Given the description of an element on the screen output the (x, y) to click on. 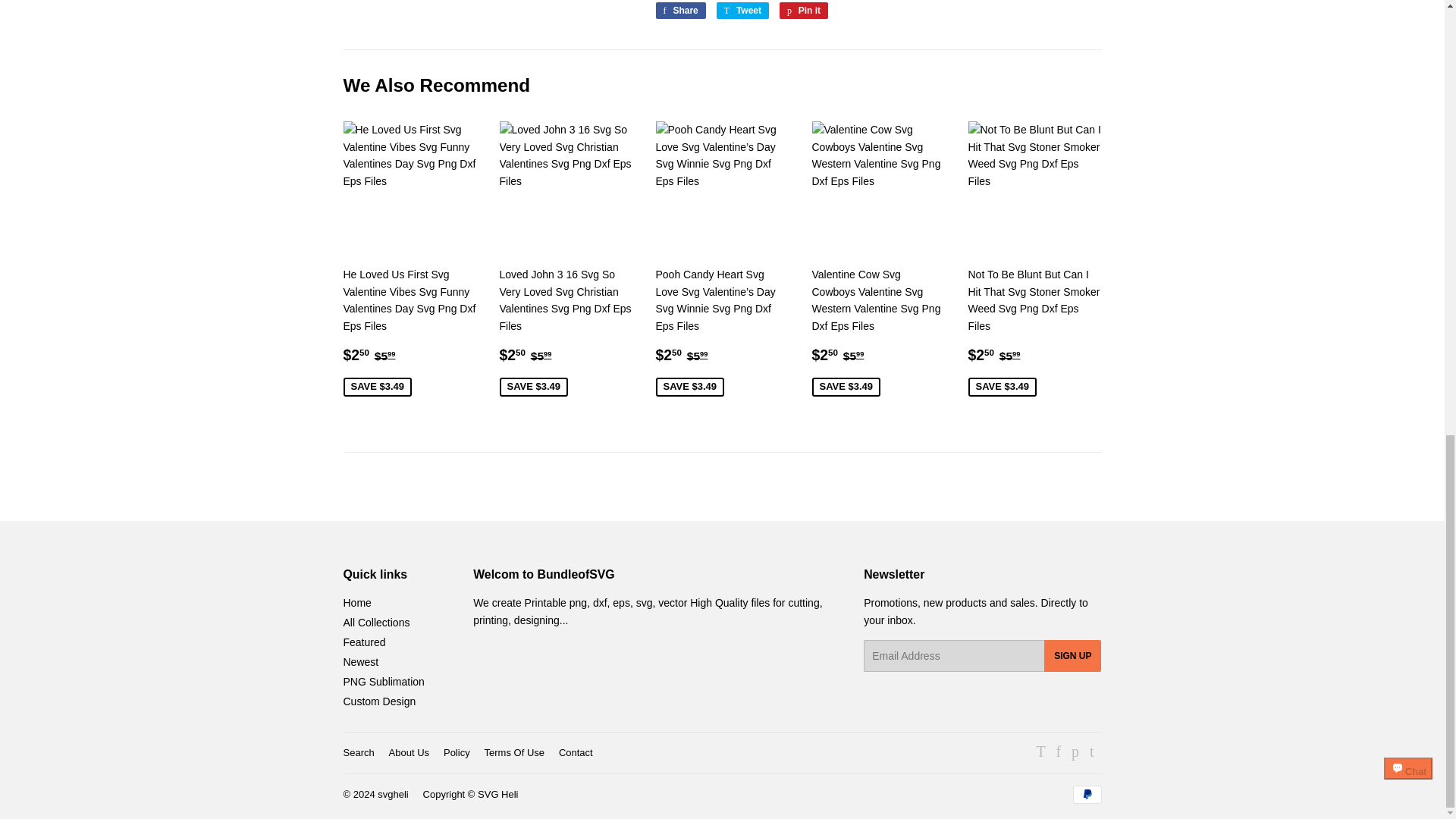
Share on Facebook (679, 10)
Tweet on Twitter (742, 10)
Featured (803, 10)
Home (742, 10)
SIGN UP (363, 642)
Newest (356, 603)
Custom Design (1071, 655)
PayPal (360, 662)
PNG Sublimation (378, 701)
All Collections (1085, 794)
Pin on Pinterest (382, 681)
